Given the description of an element on the screen output the (x, y) to click on. 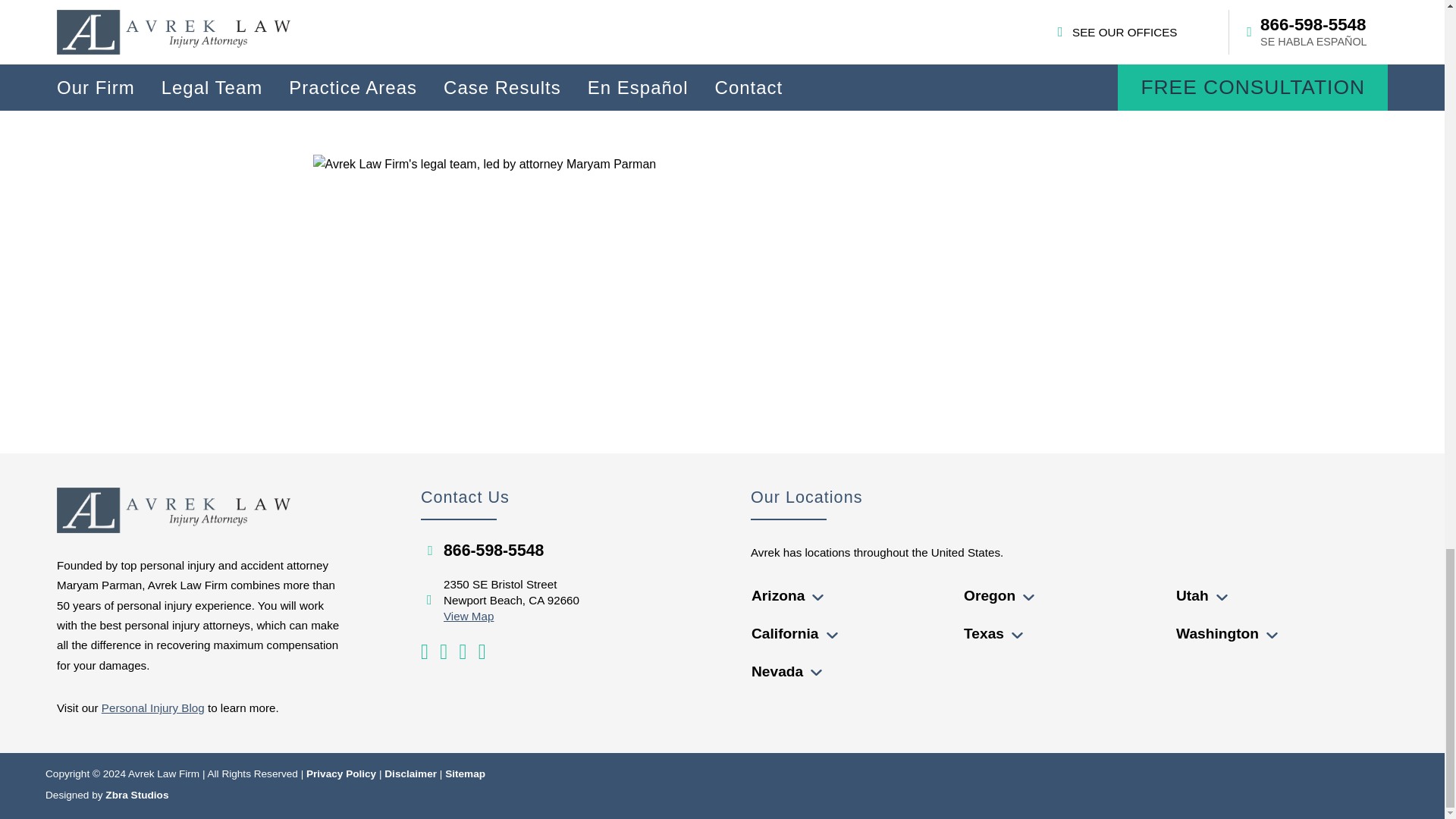
Avrek Law Firm LinkedIn (461, 651)
Avrek Law Firm Facebook (442, 651)
Avrek Law Firm YouTube (424, 651)
Avrek Law Firm Instagram (482, 651)
